Given the description of an element on the screen output the (x, y) to click on. 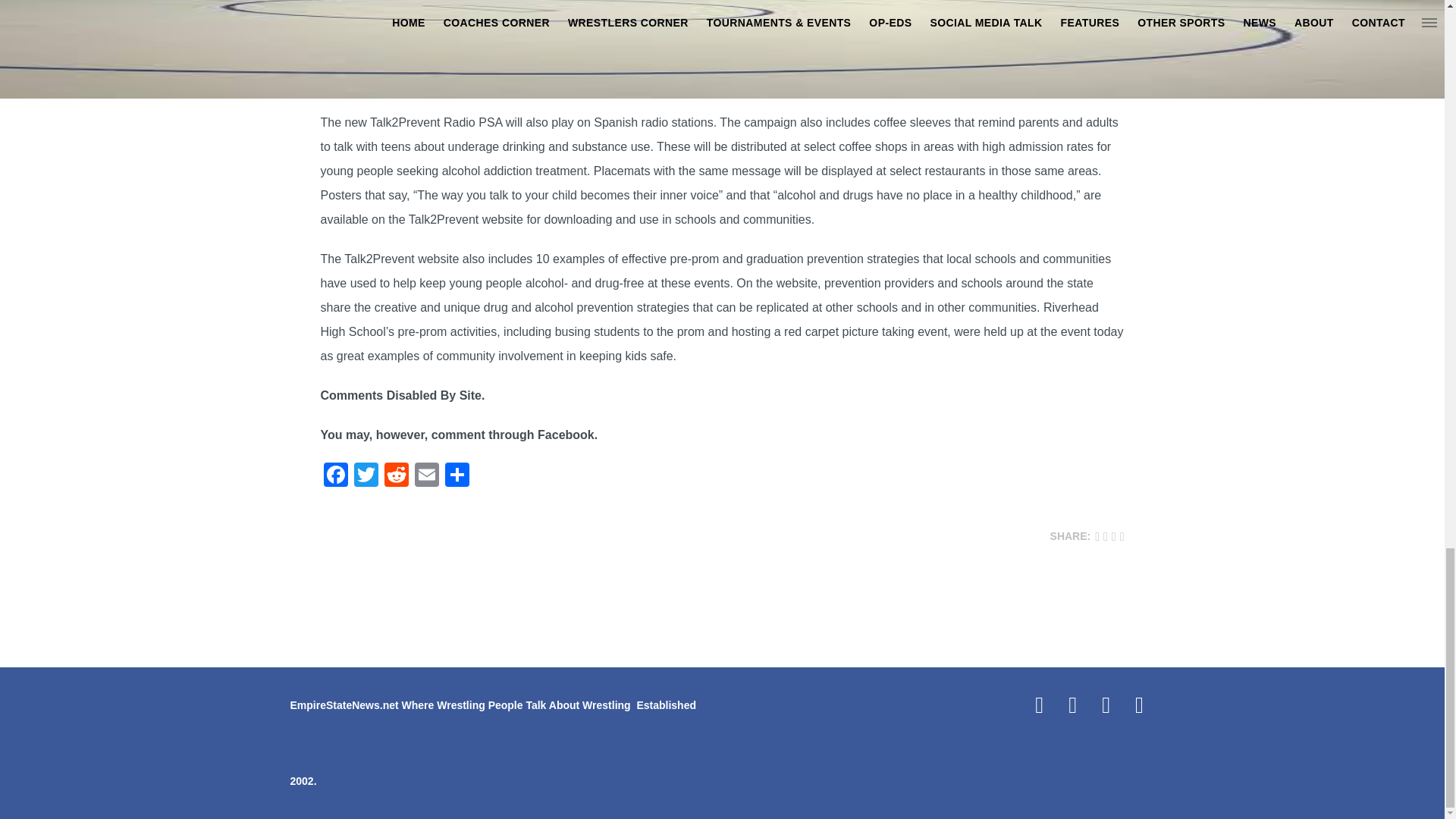
Reddit (395, 476)
Email (425, 476)
Facebook (335, 476)
Twitter (365, 476)
